Given the description of an element on the screen output the (x, y) to click on. 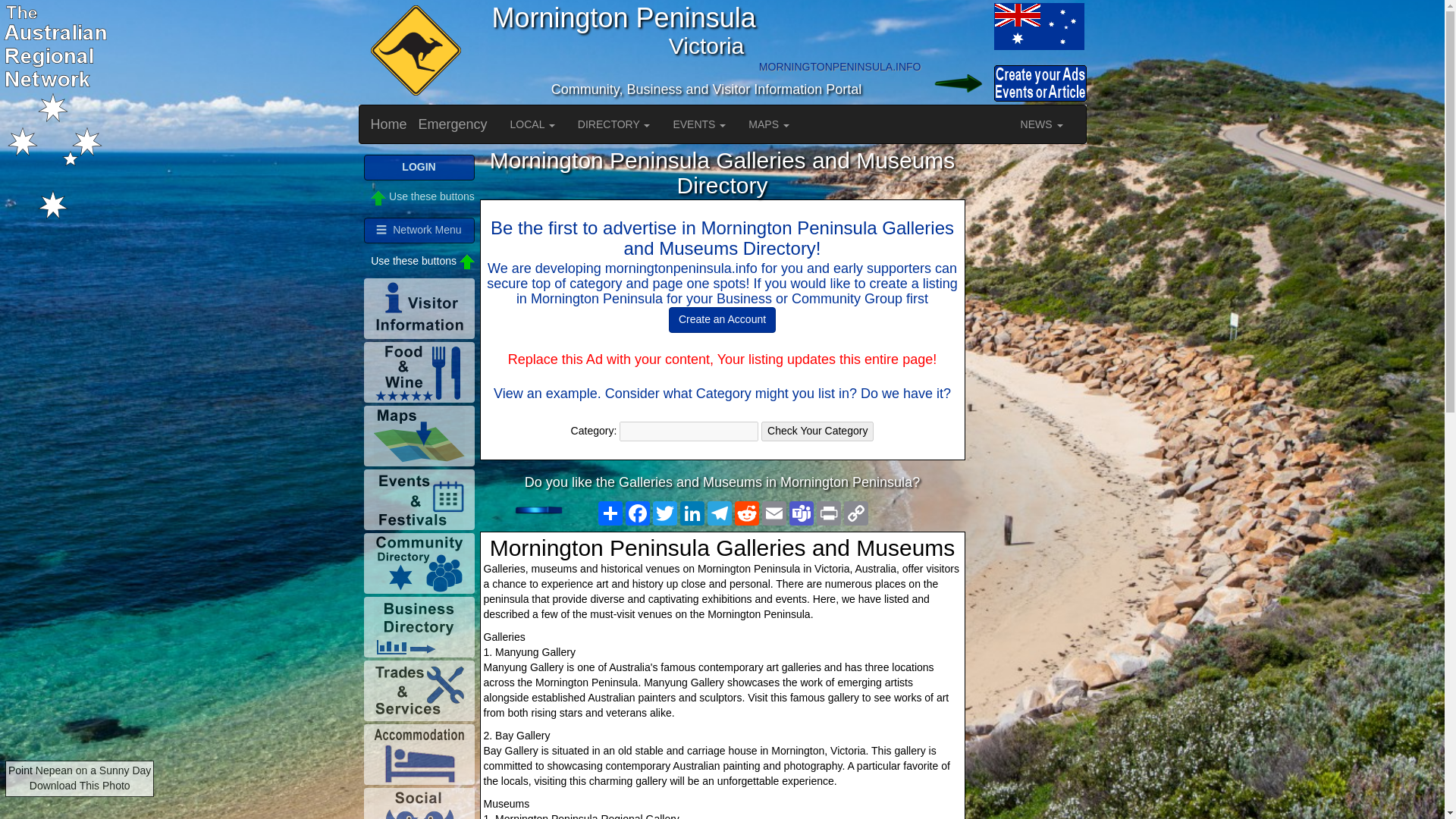
Home (389, 124)
Emergency (453, 124)
DIRECTORY (614, 124)
Mornington Peninsula Skippycoin ICG (413, 52)
LOCAL (532, 124)
Mornington Peninsula Australia (1037, 26)
Check Your Category (817, 431)
Login to morningtonpeninsula.info (956, 83)
Please like our Page (548, 510)
